Given the description of an element on the screen output the (x, y) to click on. 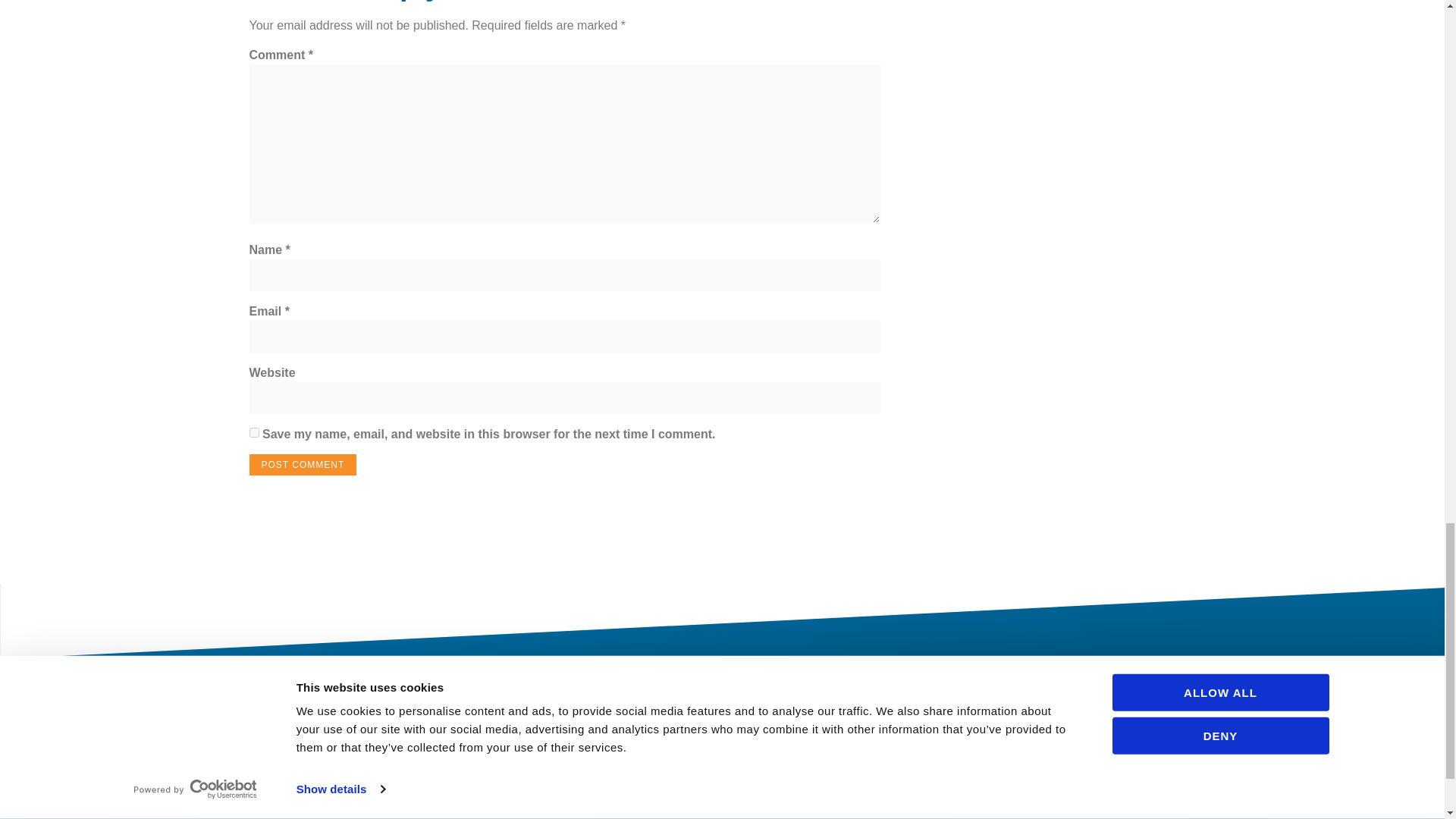
Post Comment (302, 464)
yes (253, 432)
